Given the description of an element on the screen output the (x, y) to click on. 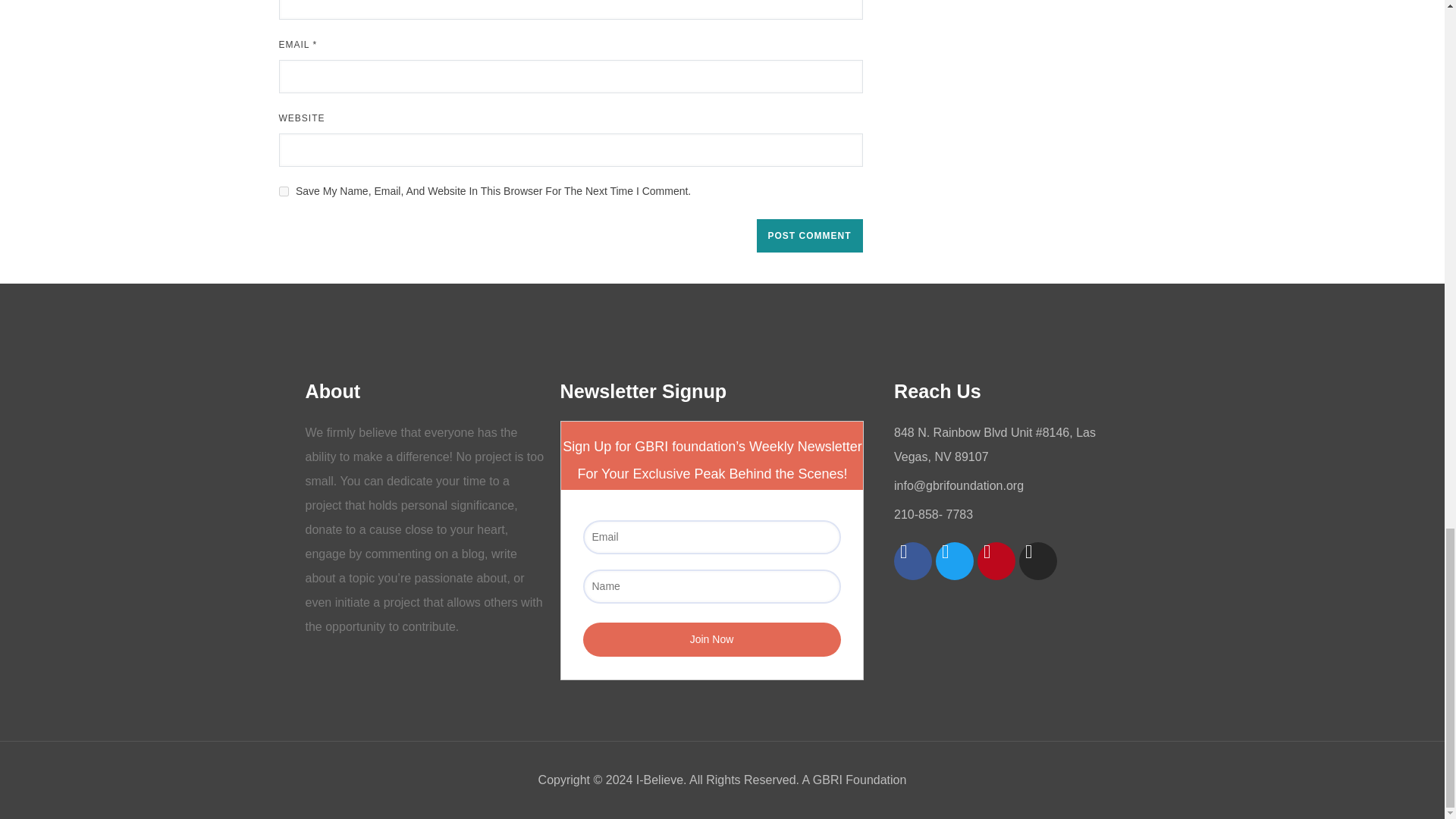
Join Now (711, 639)
Post Comment (810, 235)
yes (283, 191)
